Given the description of an element on the screen output the (x, y) to click on. 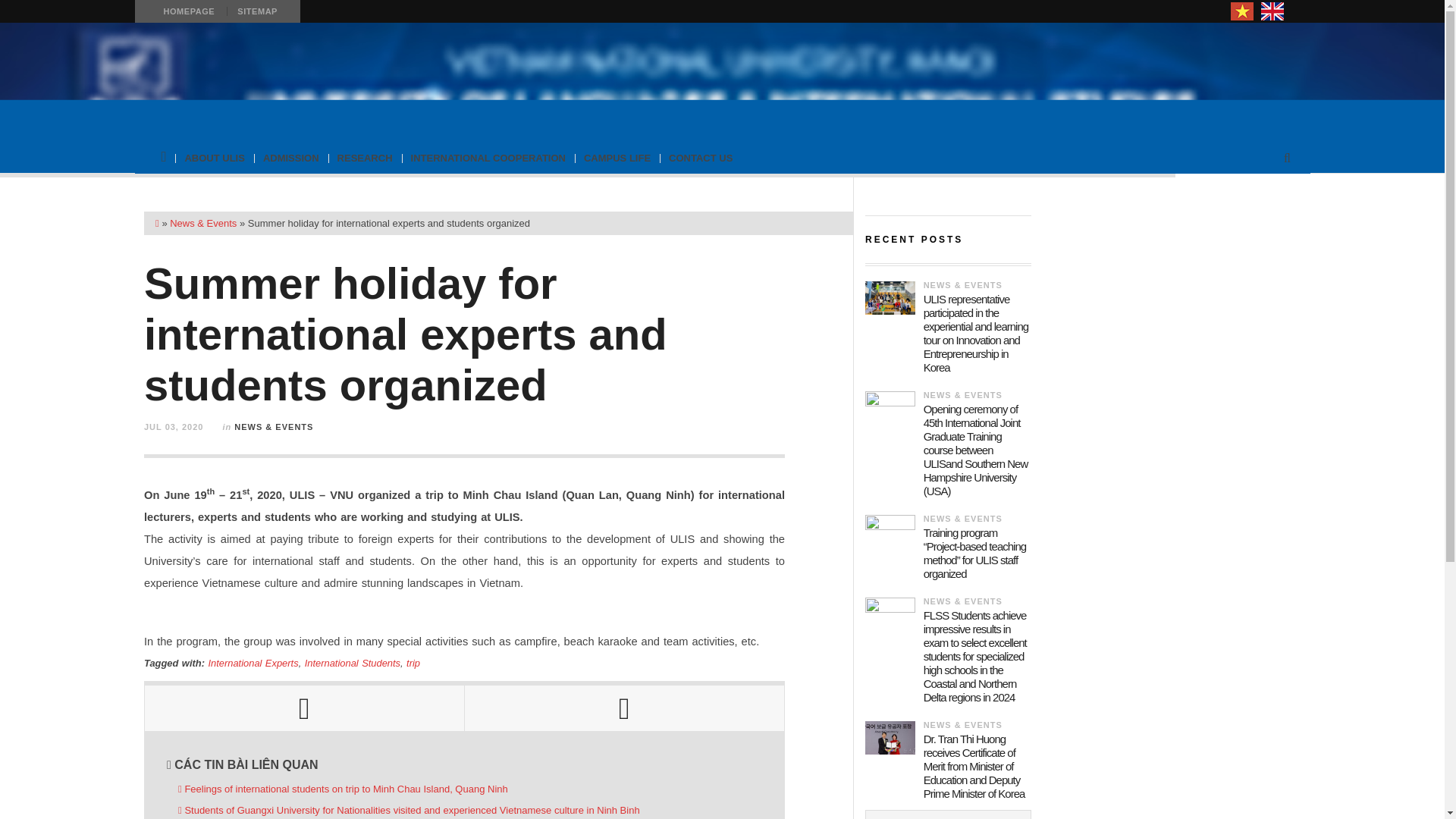
CAMPUS LIFE (617, 158)
HOMEPAGE (188, 11)
CONTACT US (700, 158)
ABOUT ULIS (213, 158)
Next Post (624, 708)
ADMISSION (291, 158)
English (1272, 11)
INTERNATIONAL COOPERATION (488, 158)
RESEARCH (365, 158)
Previous Post (304, 708)
SITEMAP (256, 11)
